Given the description of an element on the screen output the (x, y) to click on. 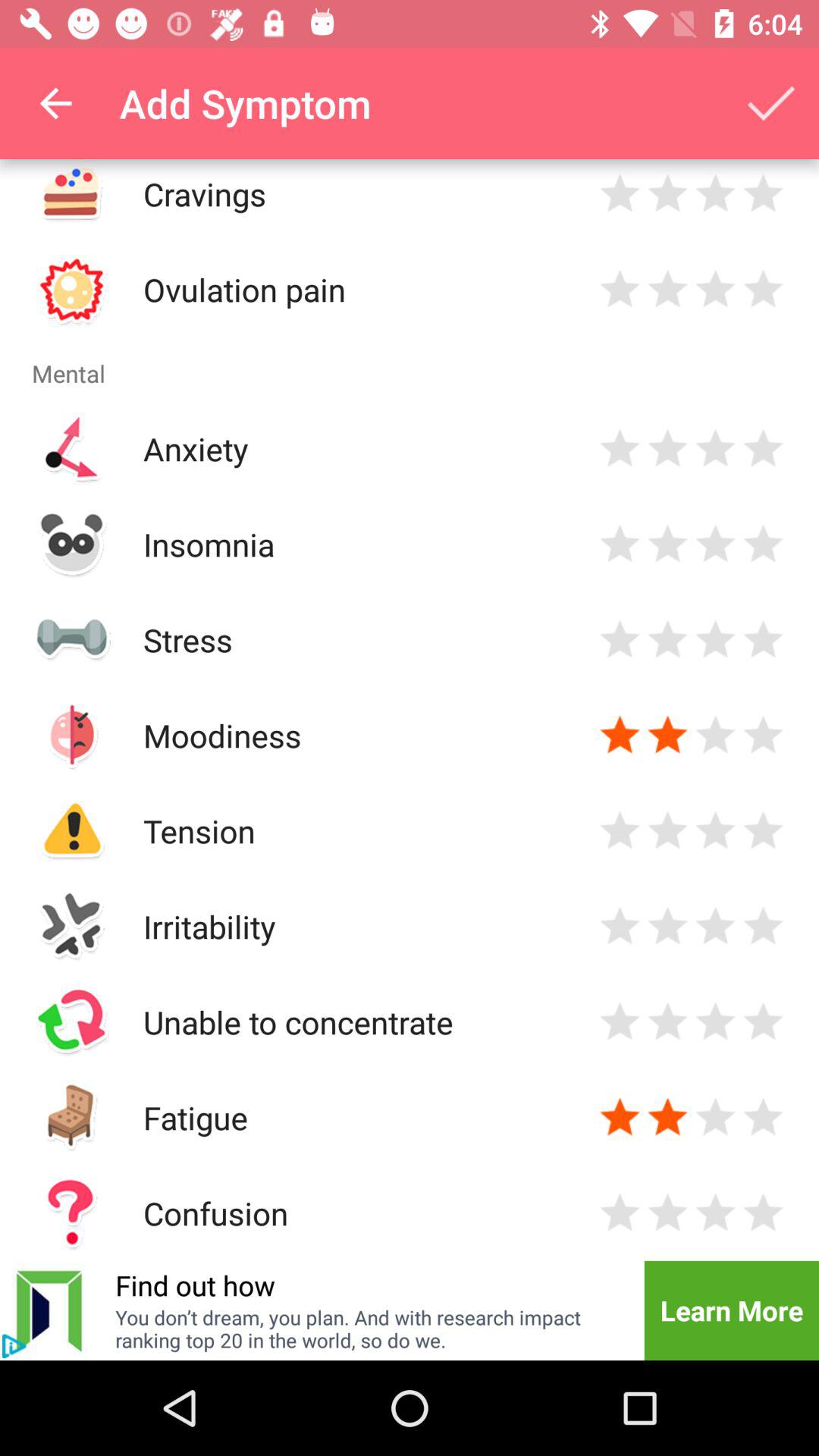
select to rate two stars (667, 926)
